Given the description of an element on the screen output the (x, y) to click on. 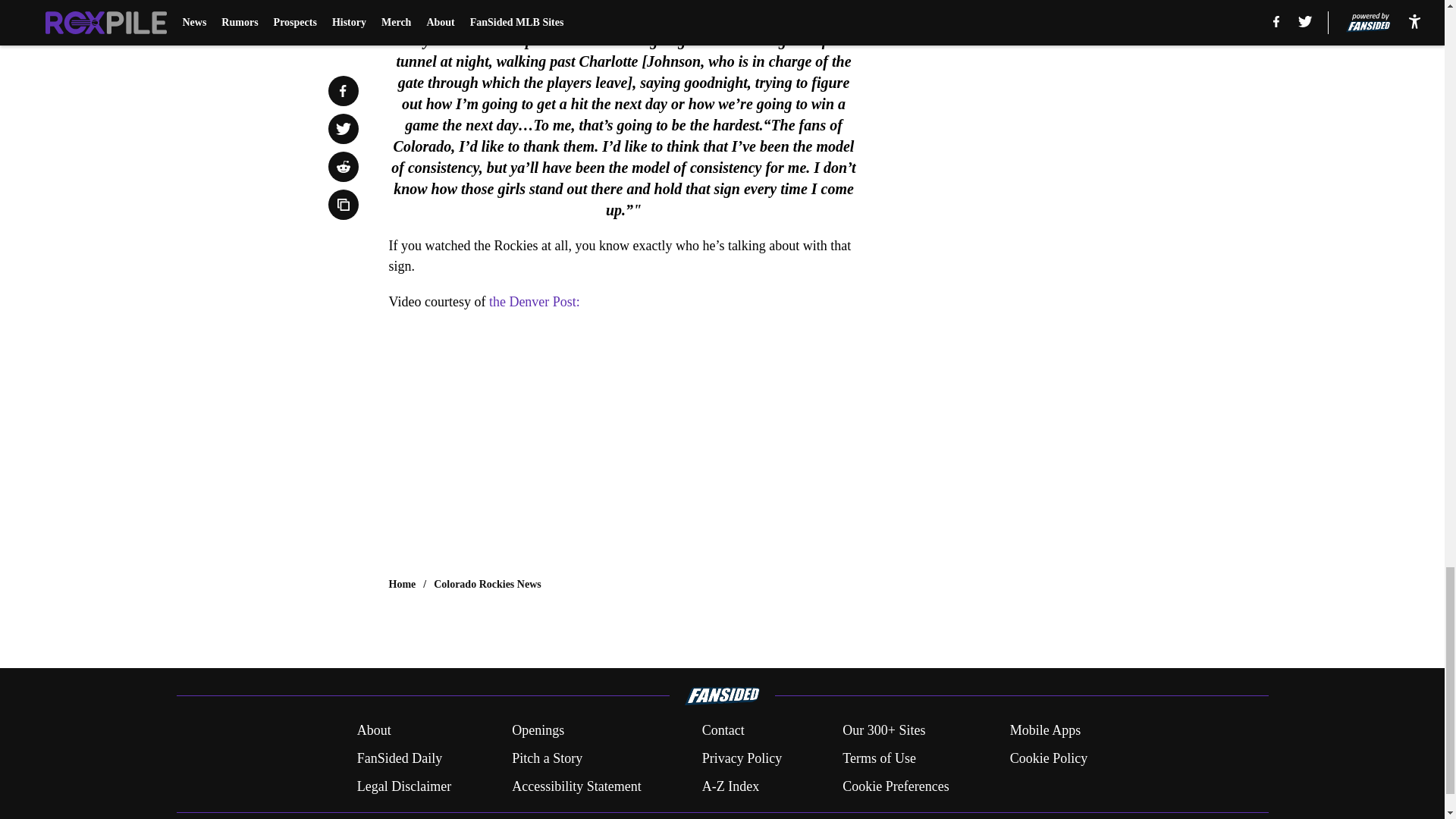
FanSided Daily (399, 758)
Colorado Rockies News (487, 584)
Cookie Policy (1048, 758)
About (373, 730)
the Denver Post: (534, 301)
Pitch a Story (547, 758)
Contact (722, 730)
Accessibility Statement (576, 786)
Home (401, 584)
Openings (538, 730)
